Given the description of an element on the screen output the (x, y) to click on. 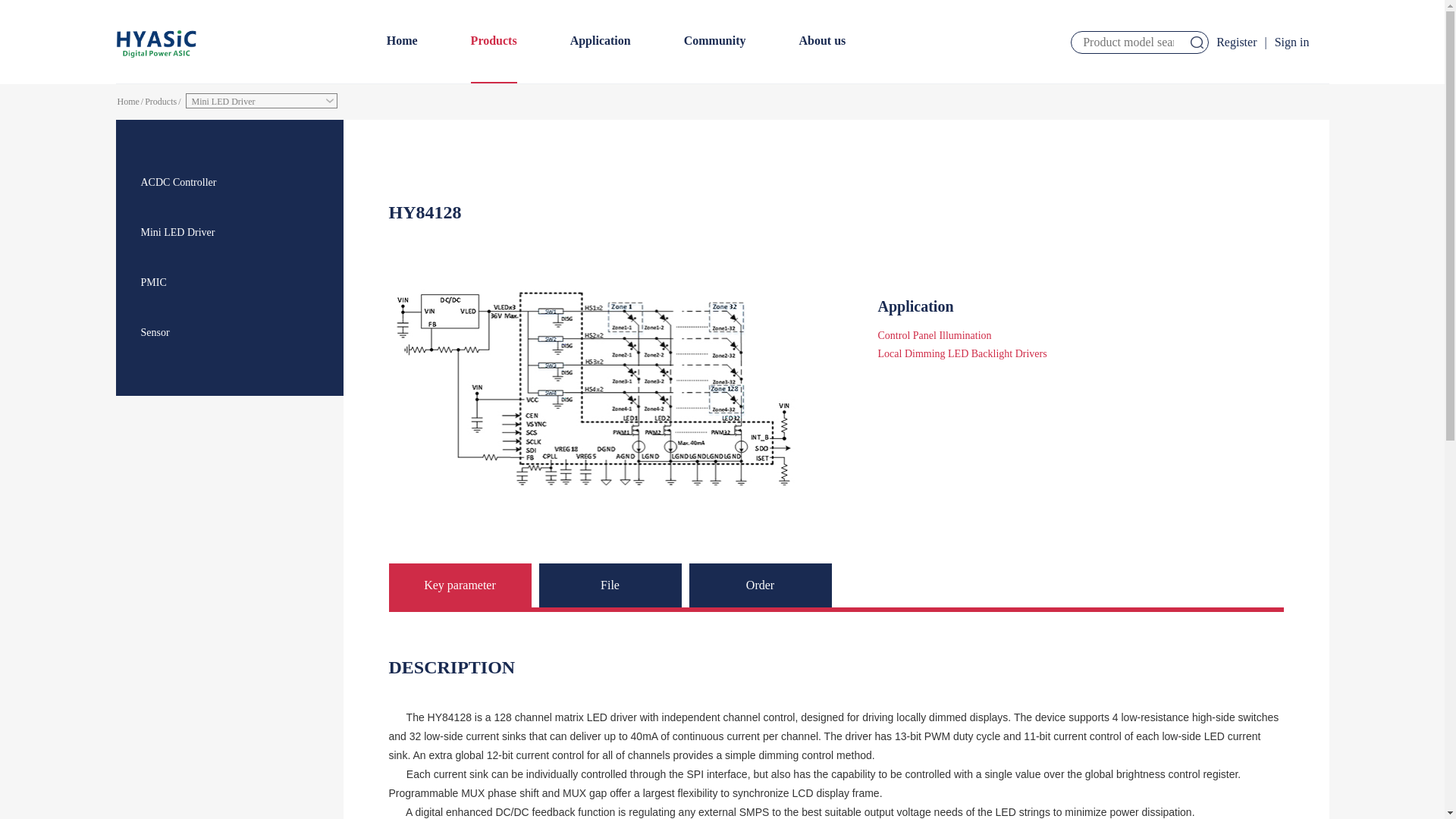
Register (1235, 41)
Community (714, 41)
Home (127, 101)
Mini LED Driver (261, 100)
Products (493, 41)
About us (821, 41)
Products (160, 101)
Application (600, 41)
Home (402, 41)
Sign in (1291, 41)
